Given the description of an element on the screen output the (x, y) to click on. 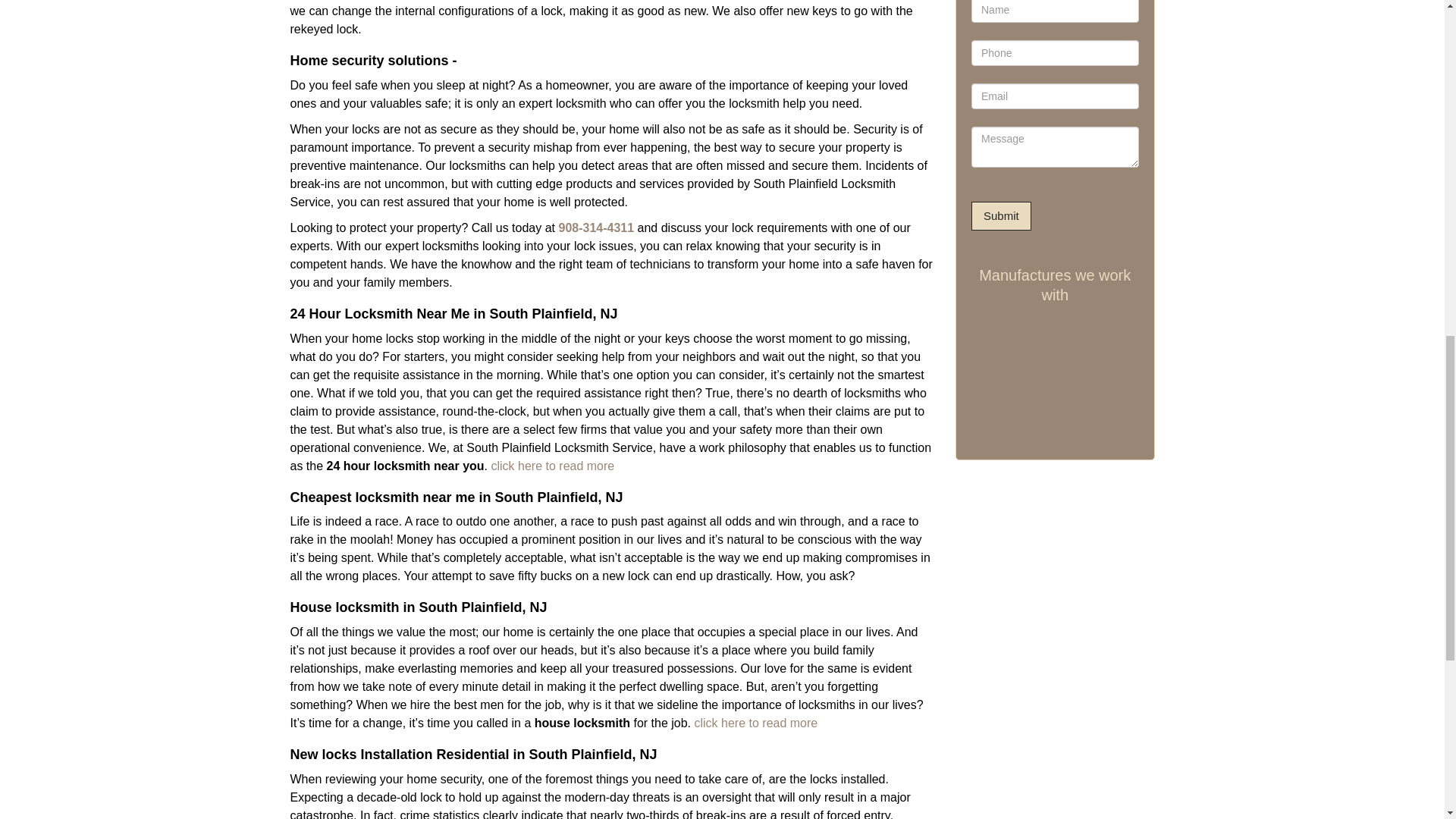
click here to read more (552, 465)
Email Field required (1054, 95)
908-314-4311 (595, 227)
Submit (1000, 215)
Name Field required (1054, 11)
click here to read more (755, 722)
Submit (1000, 215)
Phone Field required (1054, 53)
Message Field require (1054, 146)
